Given the description of an element on the screen output the (x, y) to click on. 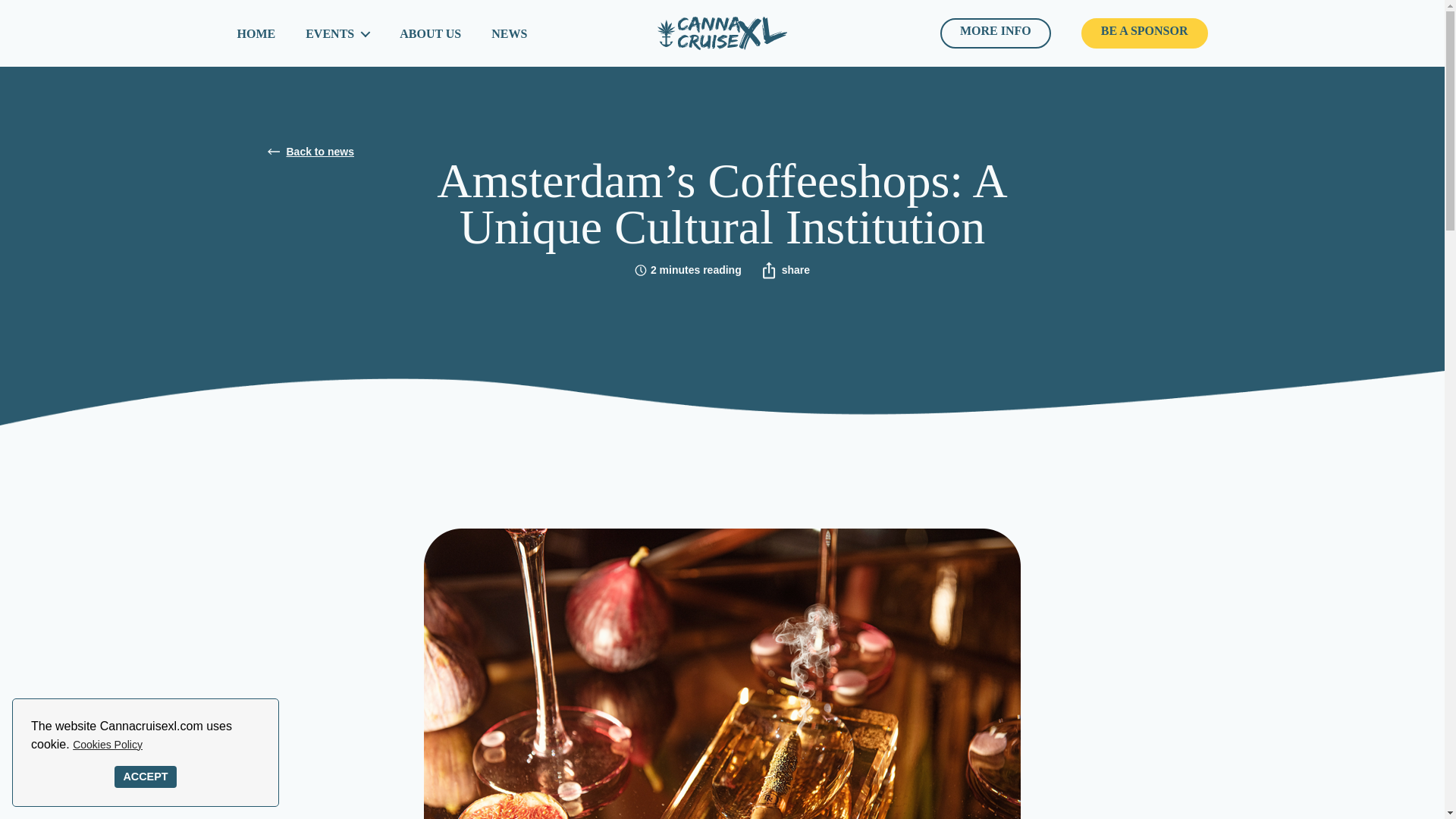
ACCEPT (145, 776)
MORE INFO (995, 33)
BE A SPONSOR (1144, 33)
HOME (255, 33)
ABOUT US (429, 33)
Back to news (721, 151)
NEWS (509, 33)
Be a Sponsor (1144, 33)
EVENTS (337, 33)
Buy Ticket (995, 33)
share (784, 270)
Cookies Policy (107, 744)
